Given the description of an element on the screen output the (x, y) to click on. 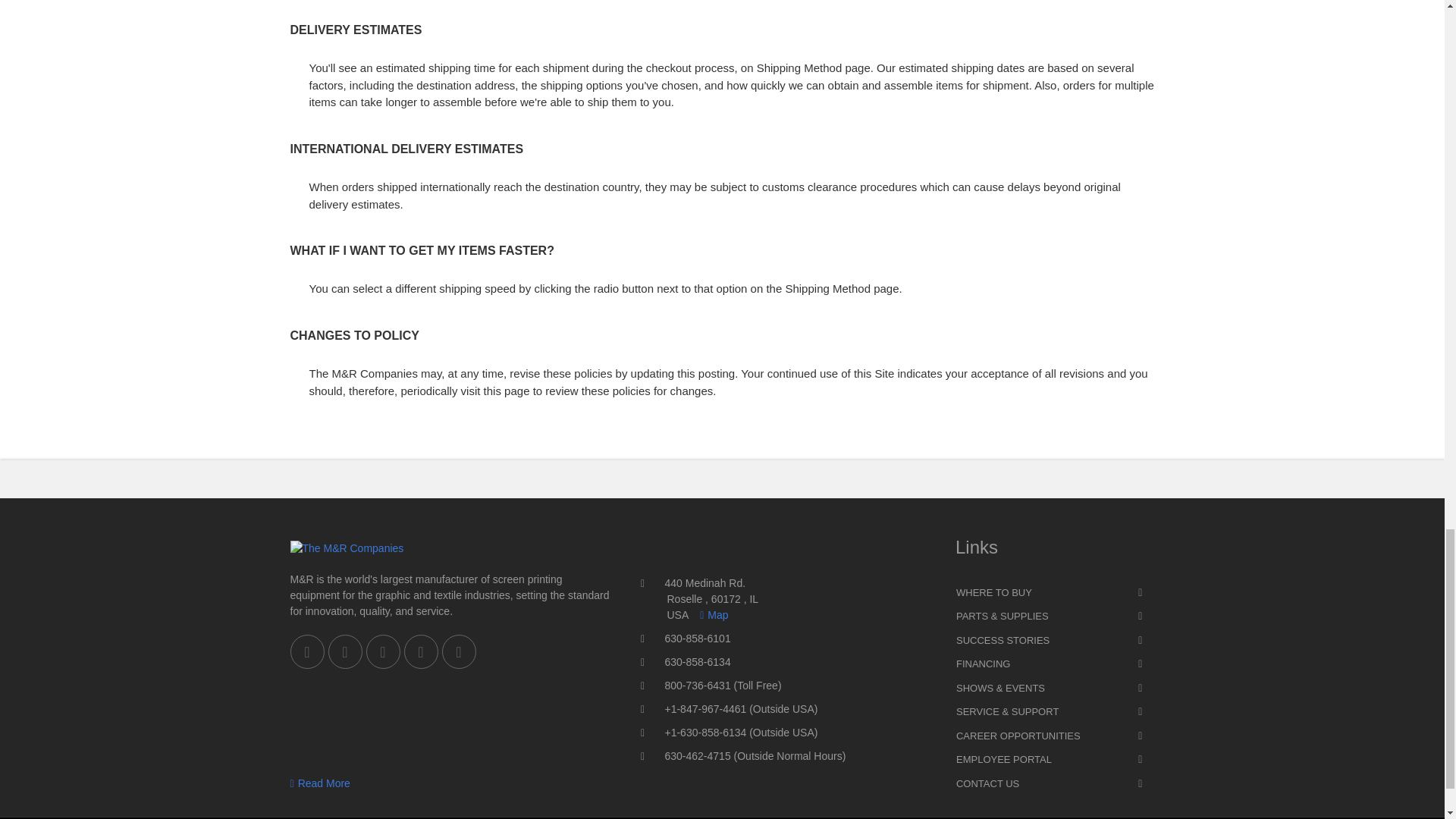
Visit out Instagram channel (458, 651)
Share on Facebook (306, 651)
Tweet (420, 651)
Visit our Linkedin page (381, 651)
Visit our Youtube channel (344, 651)
